Given the description of an element on the screen output the (x, y) to click on. 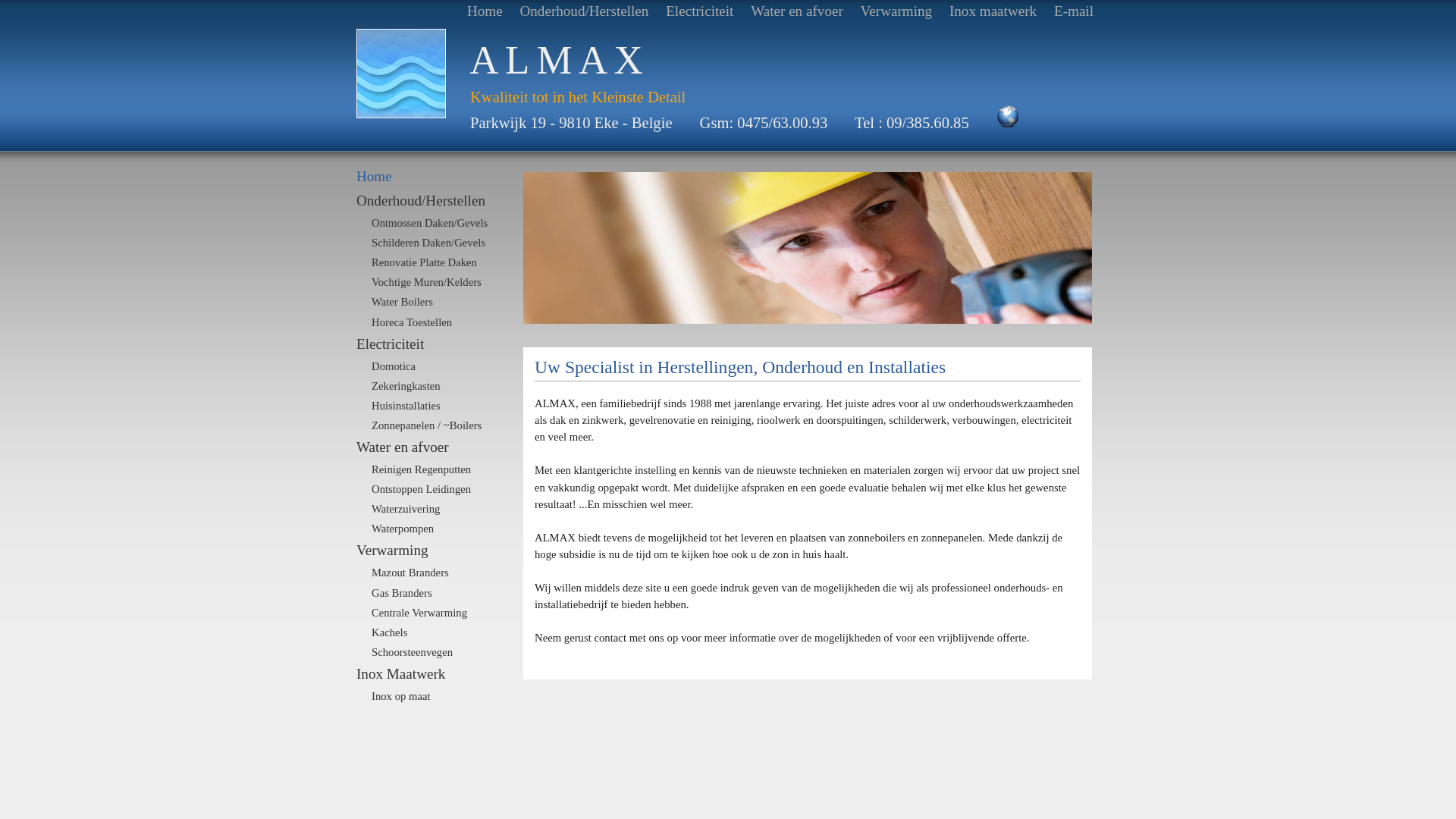
Inox Maatwerk Element type: text (432, 674)
Kachels Element type: text (439, 632)
Zekeringkasten Element type: text (439, 385)
Waterpompen Element type: text (439, 528)
Verwarming Element type: text (432, 550)
Centrale Verwarming Element type: text (439, 612)
Water en afvoer Element type: text (432, 447)
Vochtige Muren/Kelders Element type: text (439, 281)
Renovatie Platte Daken Element type: text (439, 262)
 A L M A X Element type: text (552, 59)
Gas Branders Element type: text (439, 592)
Mazout Branders Element type: text (439, 572)
Waterzuivering Element type: text (439, 508)
Huisinstallaties Element type: text (439, 405)
Inox op maat Element type: text (439, 696)
Electriciteit Element type: text (432, 344)
Reinigen Regenputten Element type: text (439, 469)
Horeca Toestellen Element type: text (439, 322)
Schoorsteenvegen Element type: text (439, 652)
Ontmossen Daken/Gevels Element type: text (439, 222)
Zonnepanelen / ~Boilers Element type: text (439, 425)
Onderhoud/Herstellen Element type: text (432, 200)
Domotica Element type: text (439, 366)
Home Element type: text (432, 176)
Schilderen Daken/Gevels Element type: text (439, 242)
Ontstoppen Leidingen Element type: text (439, 488)
Water Boilers Element type: text (439, 301)
